Given the description of an element on the screen output the (x, y) to click on. 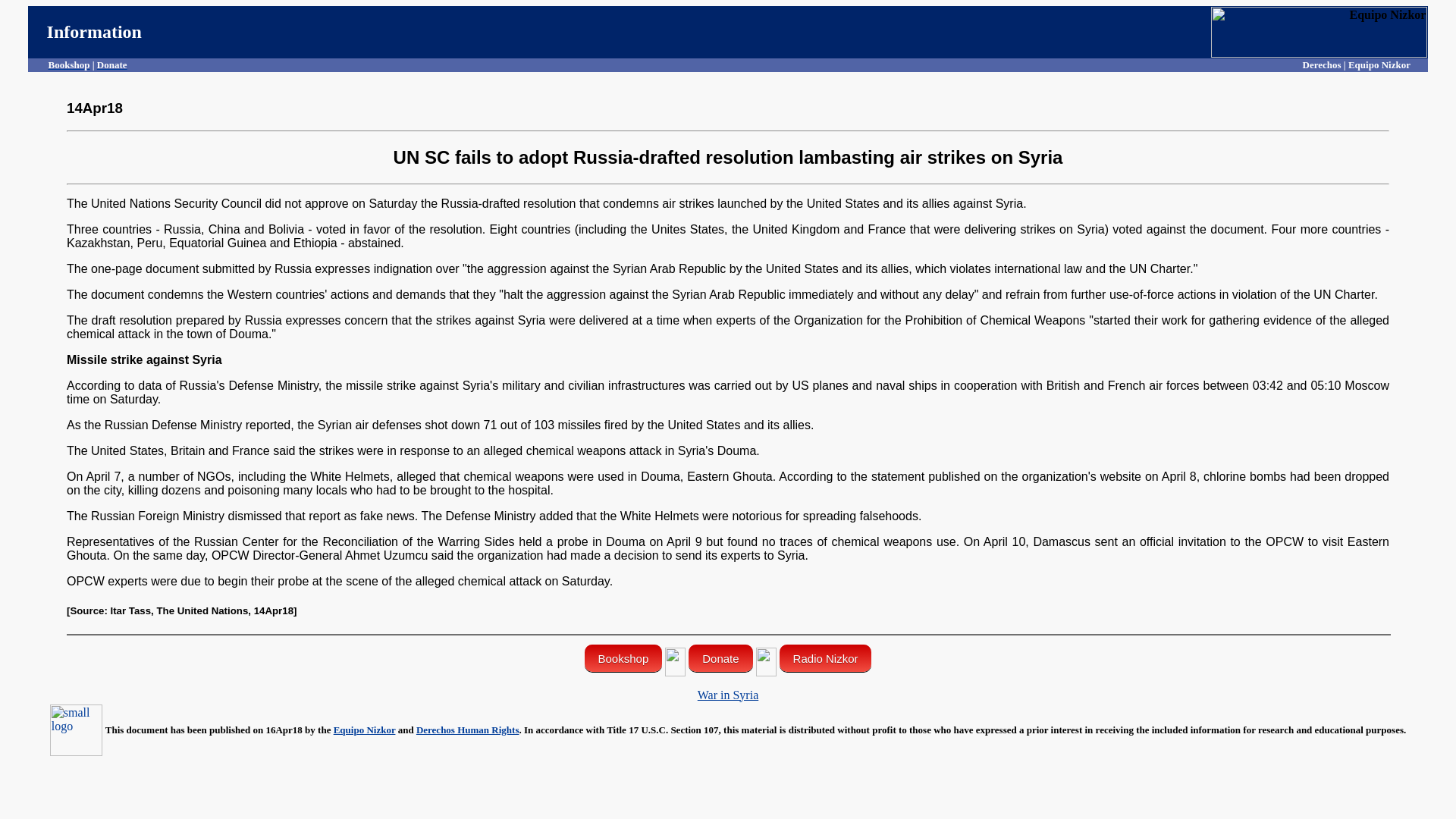
Radio Nizkor (825, 657)
Bookshop (69, 64)
Donate (112, 64)
Donate (720, 657)
Derechos Human Rights (467, 729)
War in Syria (727, 694)
Bookshop (623, 657)
Equipo Nizkor (364, 729)
